Given the description of an element on the screen output the (x, y) to click on. 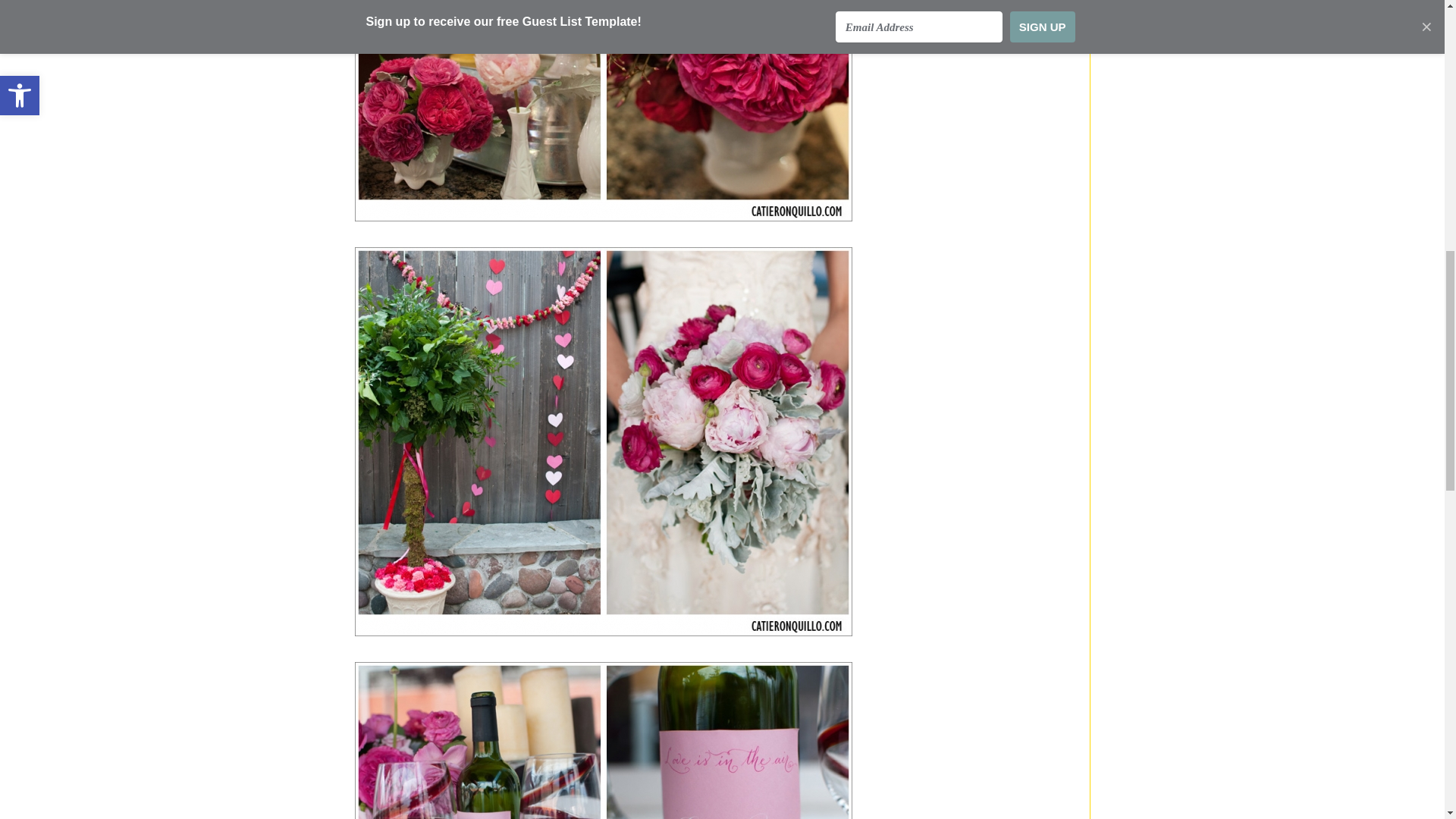
catie ronquillo (603, 110)
dallas calligrapher (603, 740)
